Given the description of an element on the screen output the (x, y) to click on. 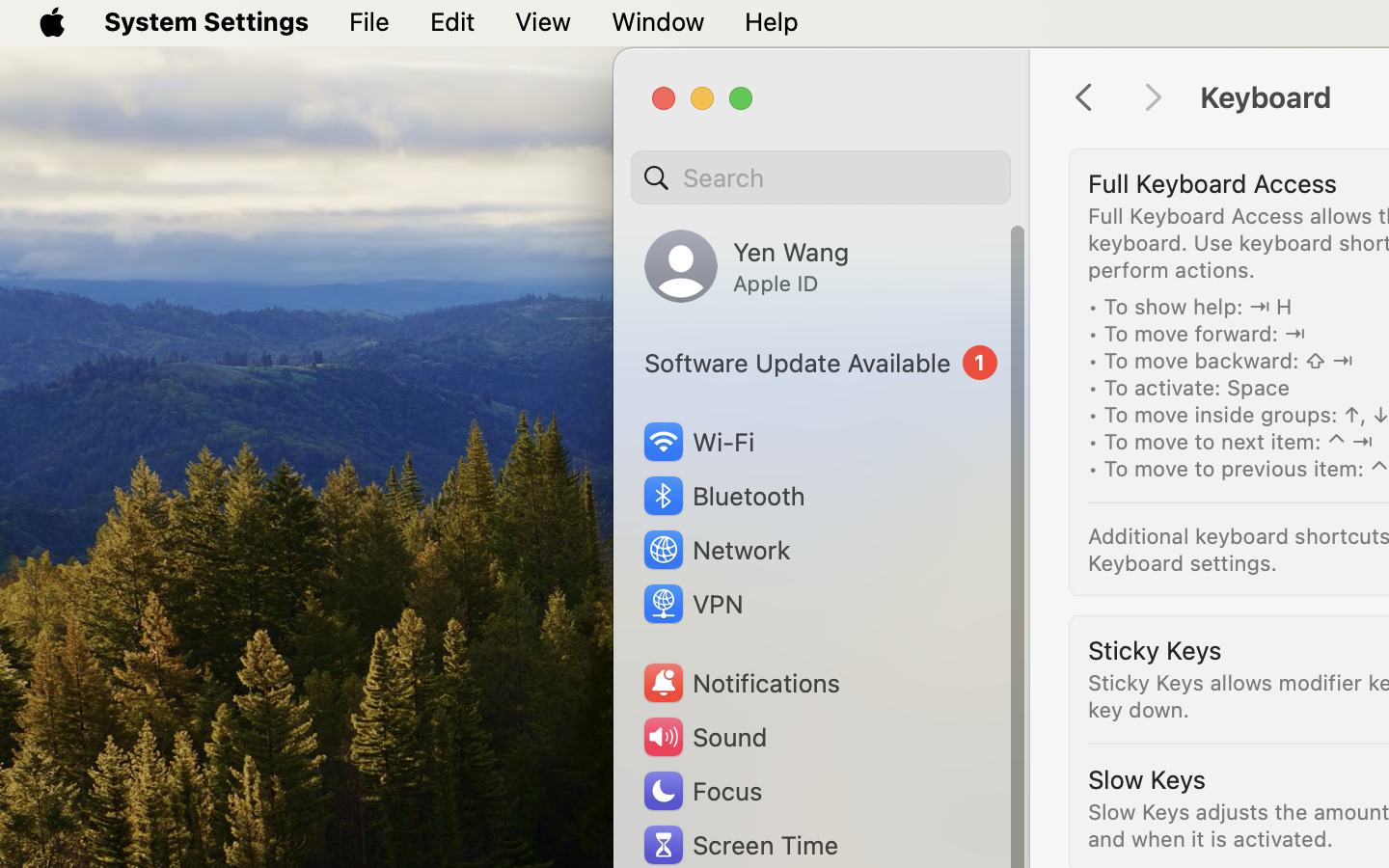
Network Element type: AXStaticText (715, 549)
Yen Wang, Apple ID Element type: AXStaticText (746, 265)
Sticky Keys Element type: AXStaticText (1154, 649)
Slow Keys Element type: AXStaticText (1146, 778)
Focus Element type: AXStaticText (701, 790)
